Given the description of an element on the screen output the (x, y) to click on. 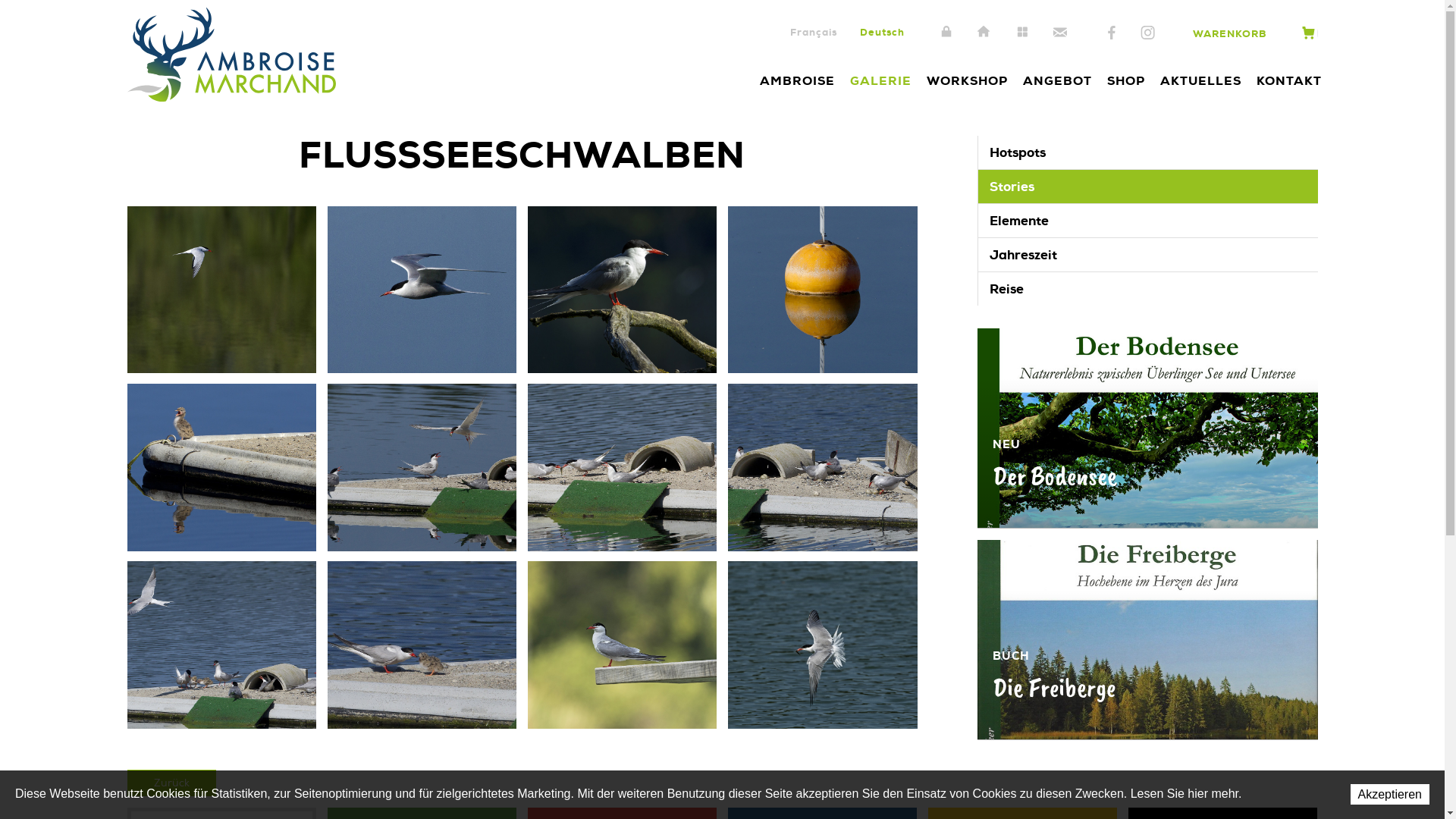
Sitemap Element type: text (1021, 32)
Stories Element type: text (1147, 186)
Home Element type: text (983, 32)
Deutsch Element type: text (881, 31)
Reise Element type: text (1147, 288)
WORKSHOP Element type: text (966, 80)
Akzeptieren Element type: text (1389, 794)
Kontakt Element type: text (1059, 32)
Hotspots Element type: text (1147, 152)
WARENKORB Element type: text (1249, 33)
Facebook Element type: text (1111, 32)
ANGEBOT Element type: text (1056, 80)
SHOP Element type: text (1126, 80)
Instagram Element type: text (1147, 32)
Intranet Element type: text (945, 32)
AMBROISE Element type: text (796, 80)
AKTUELLES Element type: text (1200, 80)
Jahreszeit Element type: text (1147, 254)
KONTAKT Element type: text (1288, 80)
GALERIE Element type: text (879, 80)
Elemente Element type: text (1147, 220)
